Given the description of an element on the screen output the (x, y) to click on. 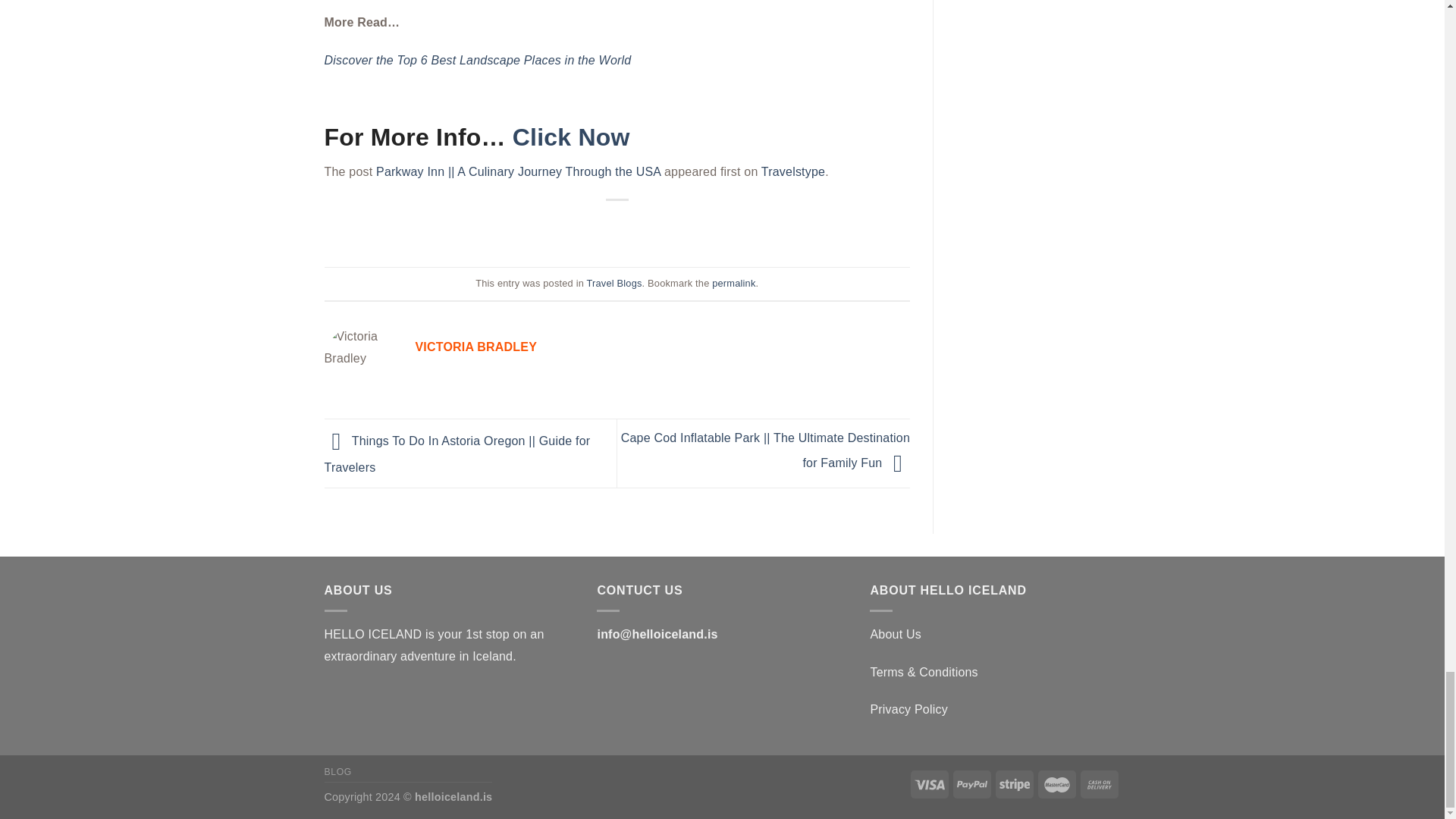
 Now (599, 136)
Travel Blogs (614, 283)
Travelstype (793, 171)
permalink (733, 283)
Click (541, 136)
Discover the Top 6 Best Landscape Places in the World (477, 60)
